Given the description of an element on the screen output the (x, y) to click on. 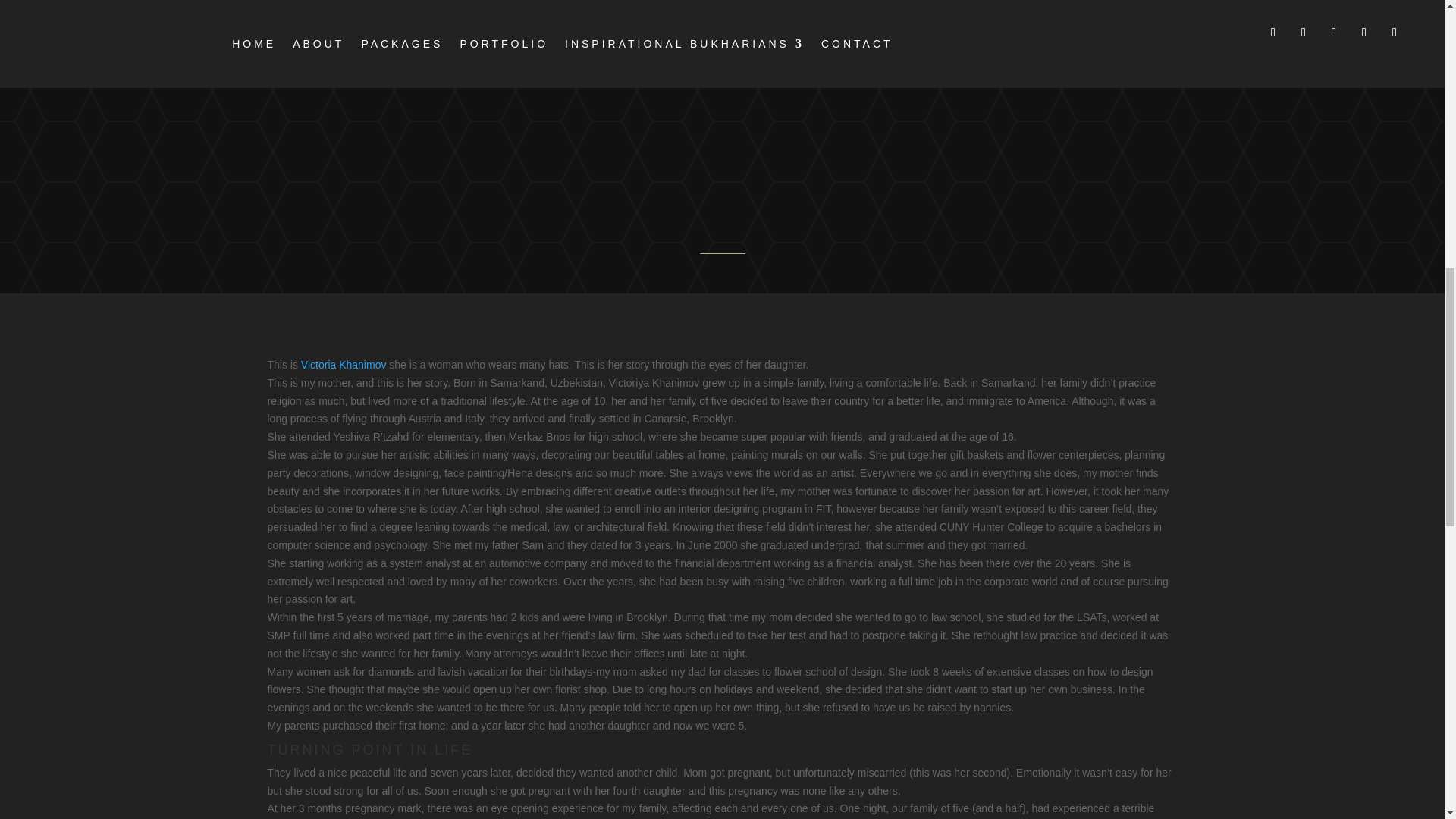
Victoria Khanimov (344, 364)
